Given the description of an element on the screen output the (x, y) to click on. 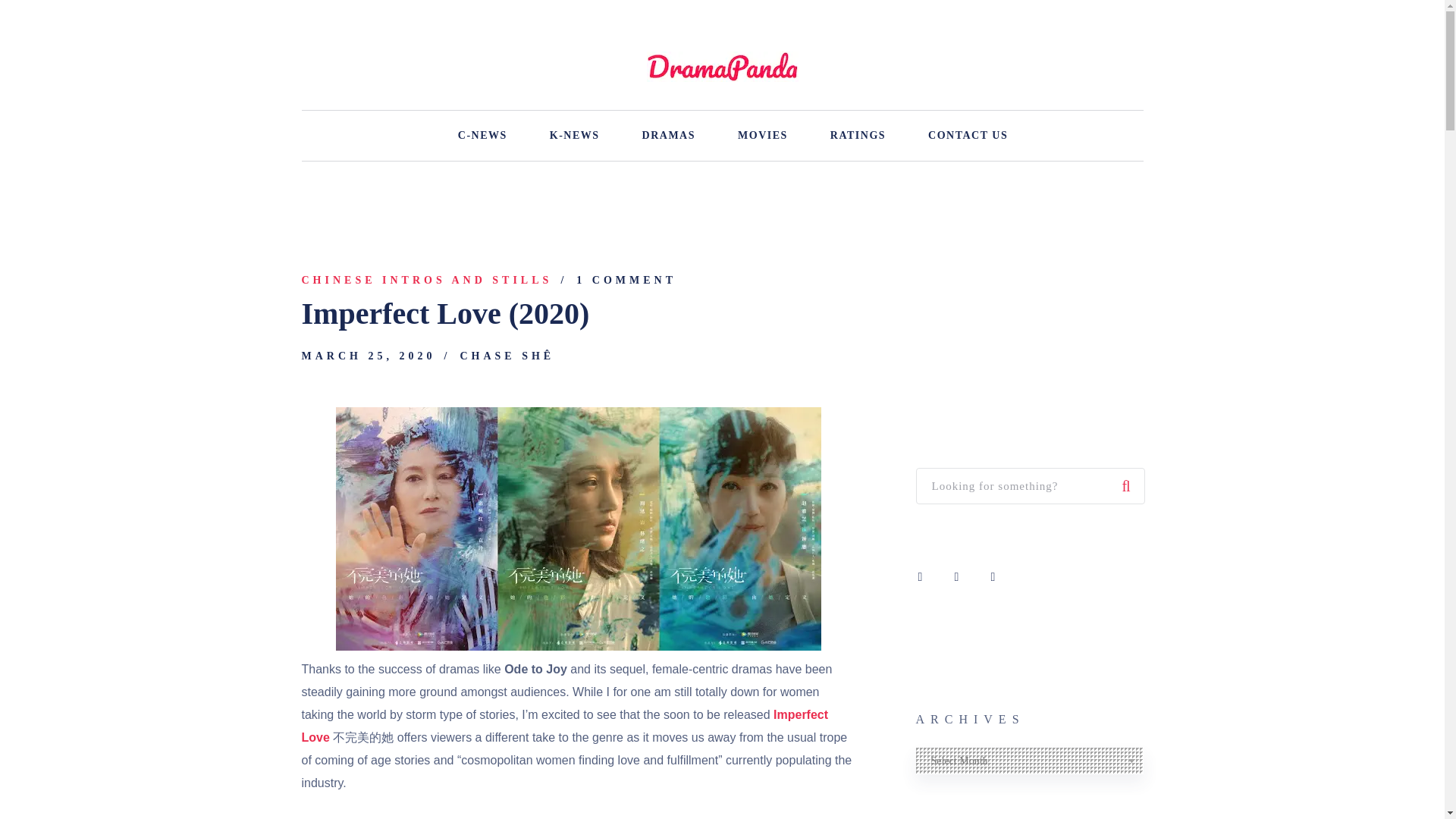
C-NEWS (482, 135)
RATINGS (857, 135)
DRAMAS (668, 135)
MOVIES (762, 135)
K-NEWS (574, 135)
Imperfect Love (564, 725)
View all posts in Chinese Intros and Stills (427, 280)
CONTACT US (967, 135)
CHINESE INTROS AND STILLS (427, 280)
